Given the description of an element on the screen output the (x, y) to click on. 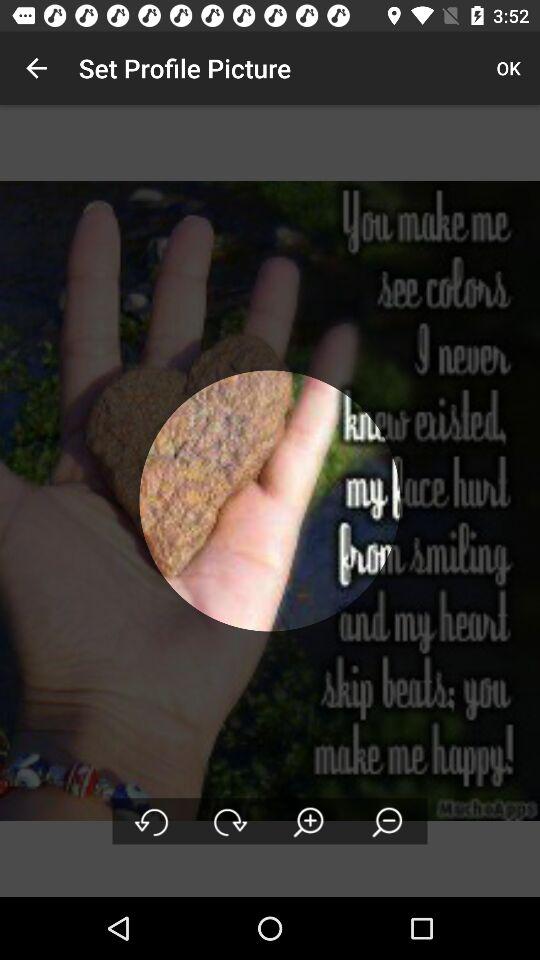
turn off item next to the set profile picture (508, 67)
